Given the description of an element on the screen output the (x, y) to click on. 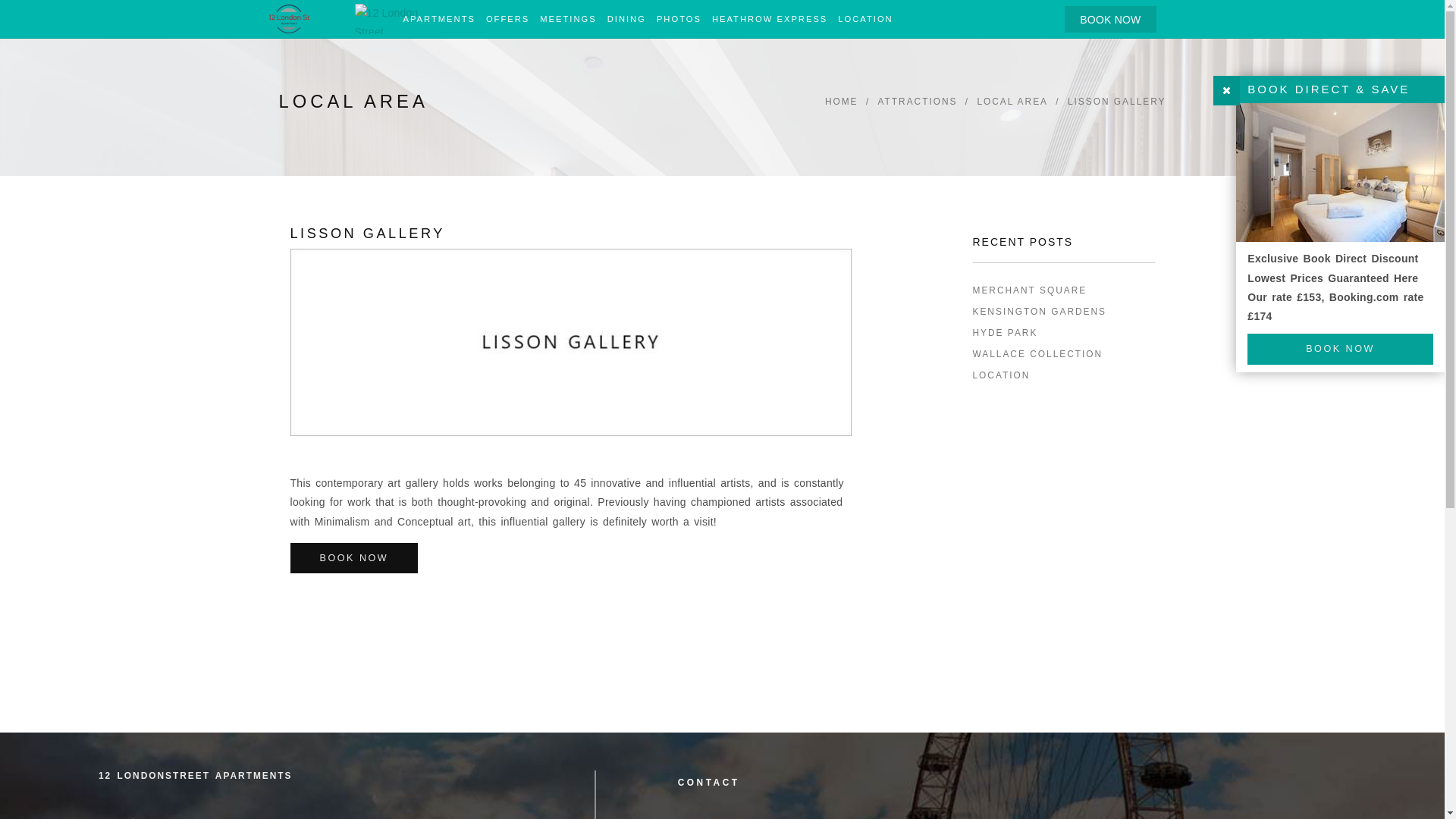
HOME Element type: text (841, 101)
LOCAL AREA Element type: text (1012, 101)
LOCATION Element type: text (1063, 375)
APARTMENTS Element type: text (438, 18)
MEETINGS Element type: text (567, 18)
LISSON GALLERY Element type: text (1116, 101)
PHOTOS Element type: text (678, 18)
12 LONDONSTREET APARTMENTS Element type: text (195, 775)
KENSINGTON GARDENS Element type: text (1063, 311)
MERCHANT SQUARE Element type: text (1063, 290)
WALLACE COLLECTION Element type: text (1063, 354)
BOOK NOW Element type: text (1109, 19)
LOCATION Element type: text (864, 18)
ATTRACTIONS Element type: text (917, 101)
DINING Element type: text (626, 18)
BOOK NOW Element type: text (353, 558)
OFFERS Element type: text (507, 18)
HEATHROW EXPRESS Element type: text (769, 18)
HYDE PARK Element type: text (1063, 333)
BOOK NOW Element type: text (1340, 348)
